Given the description of an element on the screen output the (x, y) to click on. 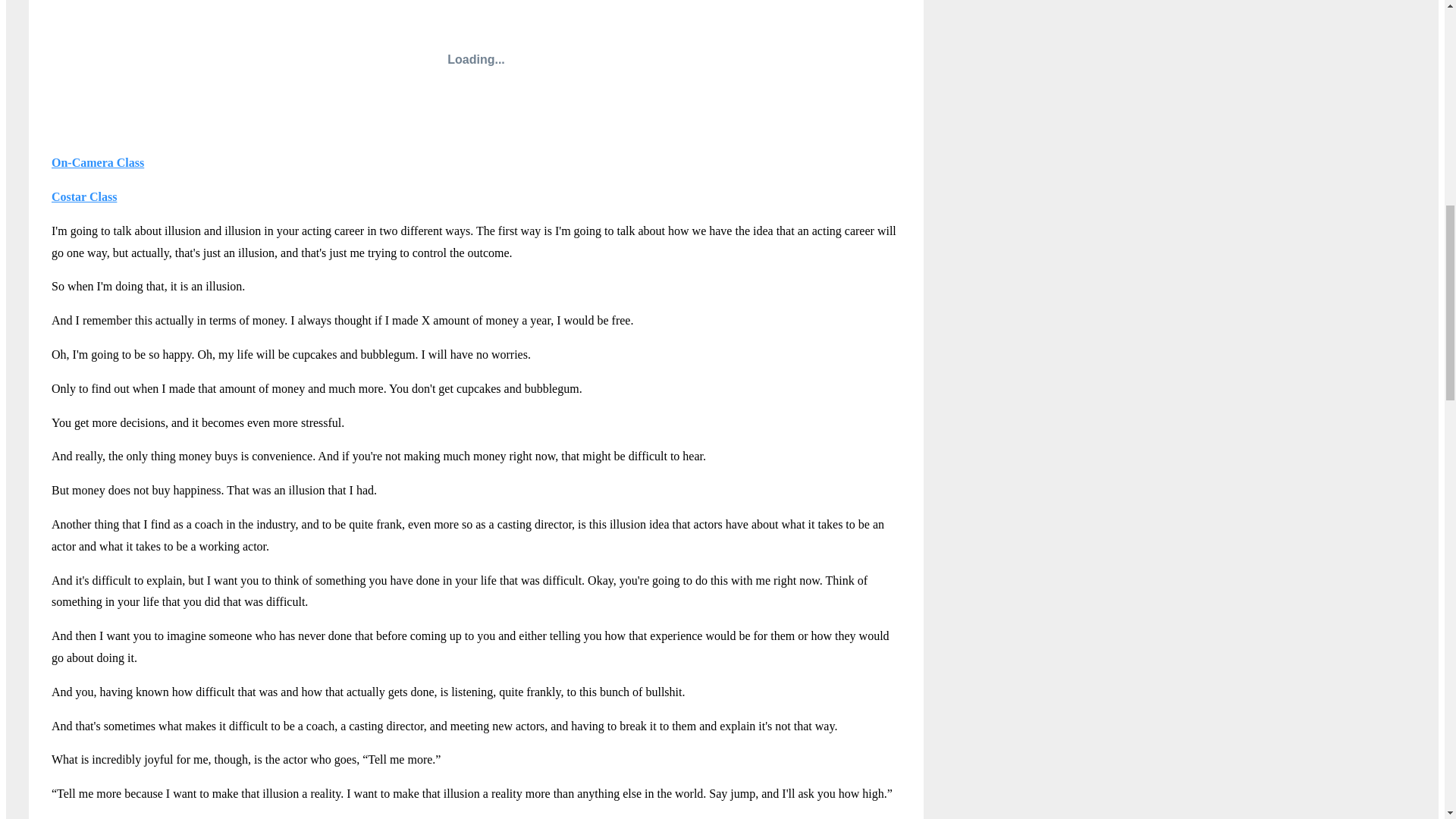
On-Camera Class (97, 162)
Embed Player (475, 66)
Costar Class (83, 196)
